Given the description of an element on the screen output the (x, y) to click on. 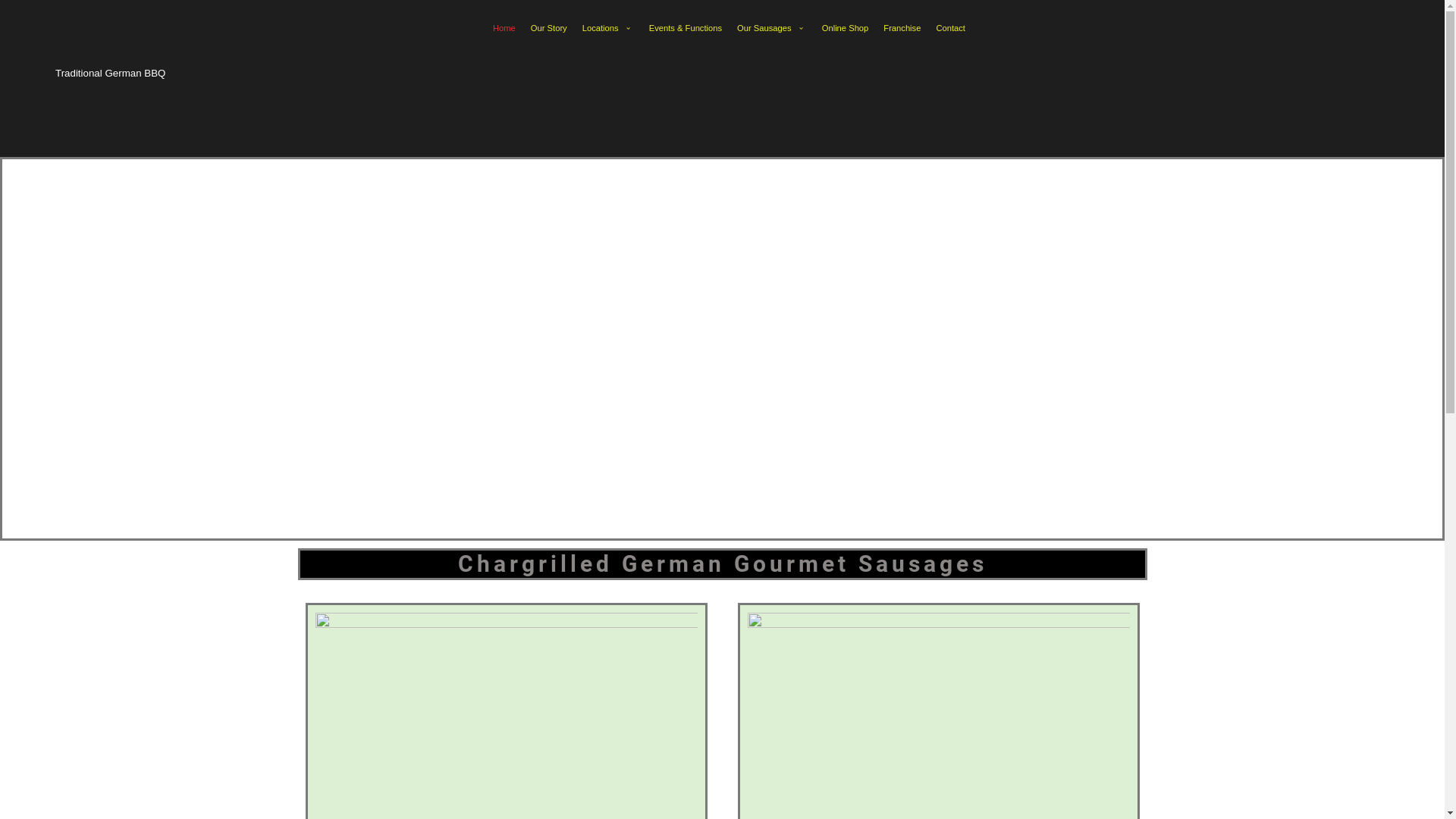
Franchise Element type: text (901, 27)
Traditional German BBQ Element type: text (113, 73)
Our Story Element type: text (548, 27)
Home Element type: text (503, 27)
Events & Functions Element type: text (685, 27)
Our Sausages Element type: text (771, 27)
Online Shop Element type: text (845, 27)
Skip to content Element type: text (15, 7)
Contact Element type: text (950, 27)
Locations Element type: text (607, 27)
